Given the description of an element on the screen output the (x, y) to click on. 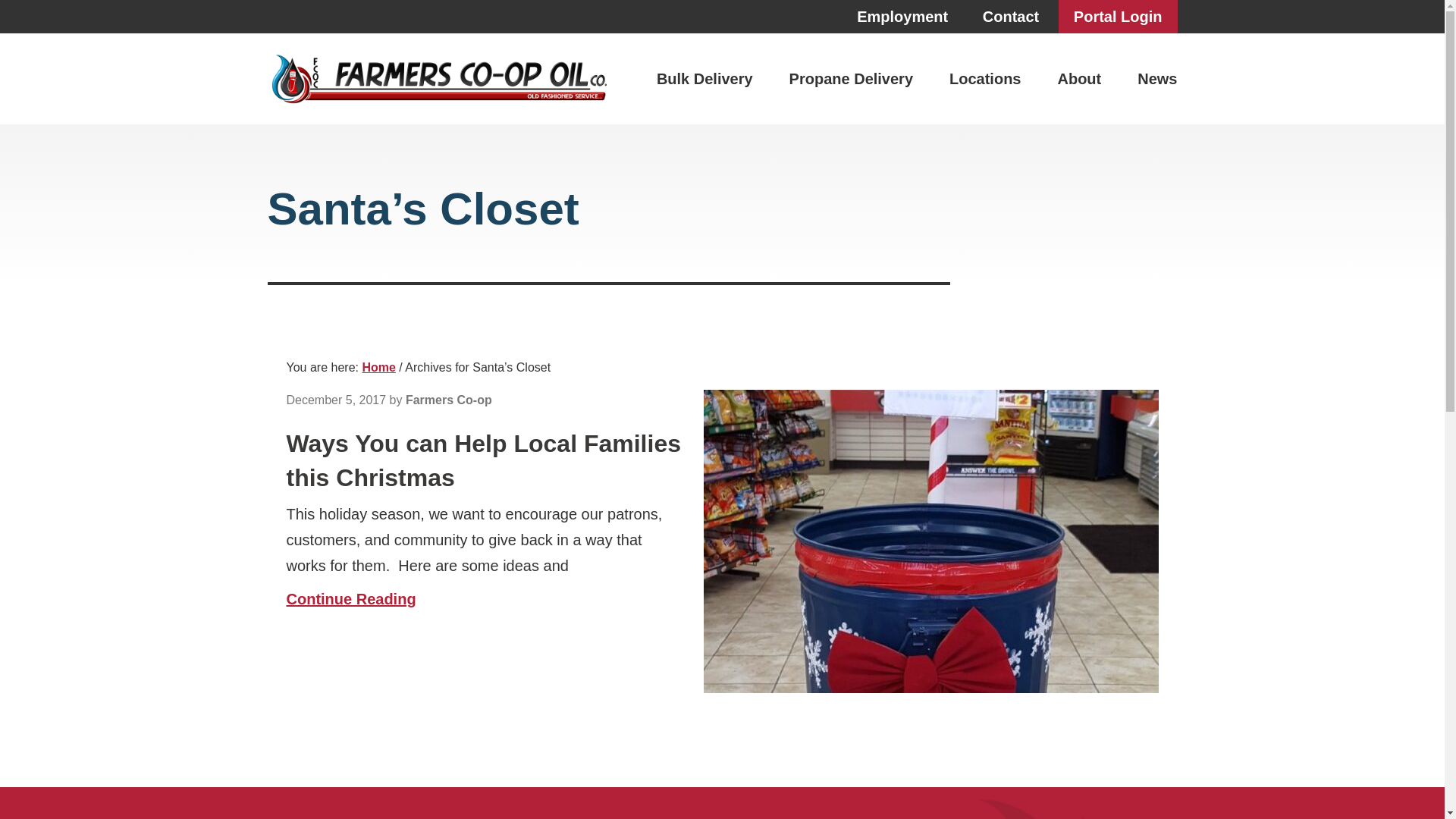
Bulk Delivery (713, 78)
Contact (1011, 16)
Ways You can Help Local Families this Christmas (483, 460)
About (1079, 78)
News (1147, 78)
Employment (901, 16)
Locations (985, 78)
Propane Delivery (851, 78)
Home (377, 367)
Farmers Co-op (438, 78)
Continue Reading (351, 598)
Portal Login (1117, 16)
